Given the description of an element on the screen output the (x, y) to click on. 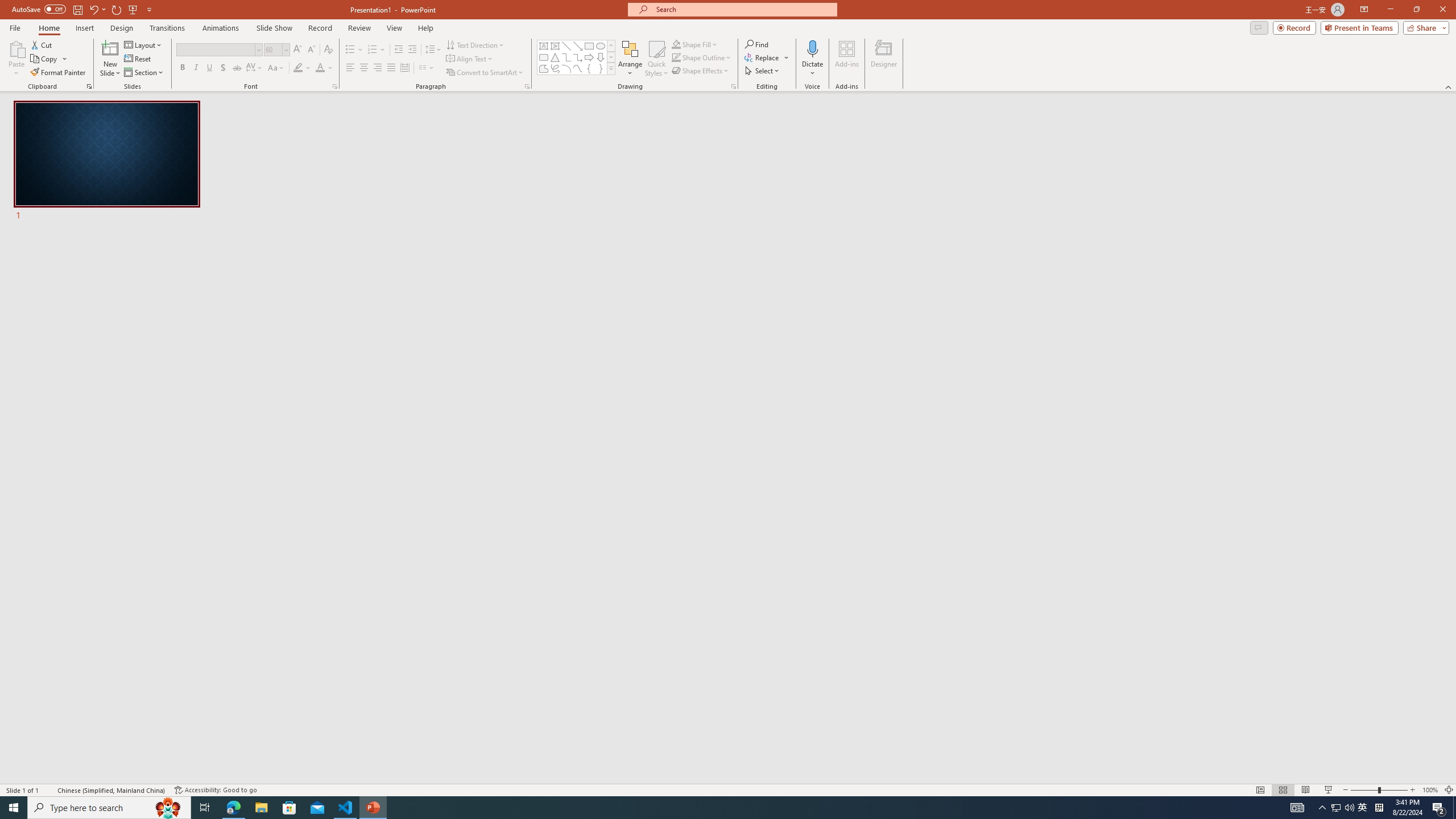
File Tab (15, 27)
Shape Outline (701, 56)
AutoSave (38, 9)
Font Size (276, 49)
Accessibility Checker Accessibility: Good to go (216, 790)
Layout (143, 44)
Paste (16, 48)
System (6, 6)
Text Highlight Color Yellow (297, 67)
AutomationID: ShapesInsertGallery (576, 57)
Class: MsoCommandBar (728, 789)
Close (1442, 9)
Increase Font Size (297, 49)
Align Right (377, 67)
Zoom In (1412, 790)
